Given the description of an element on the screen output the (x, y) to click on. 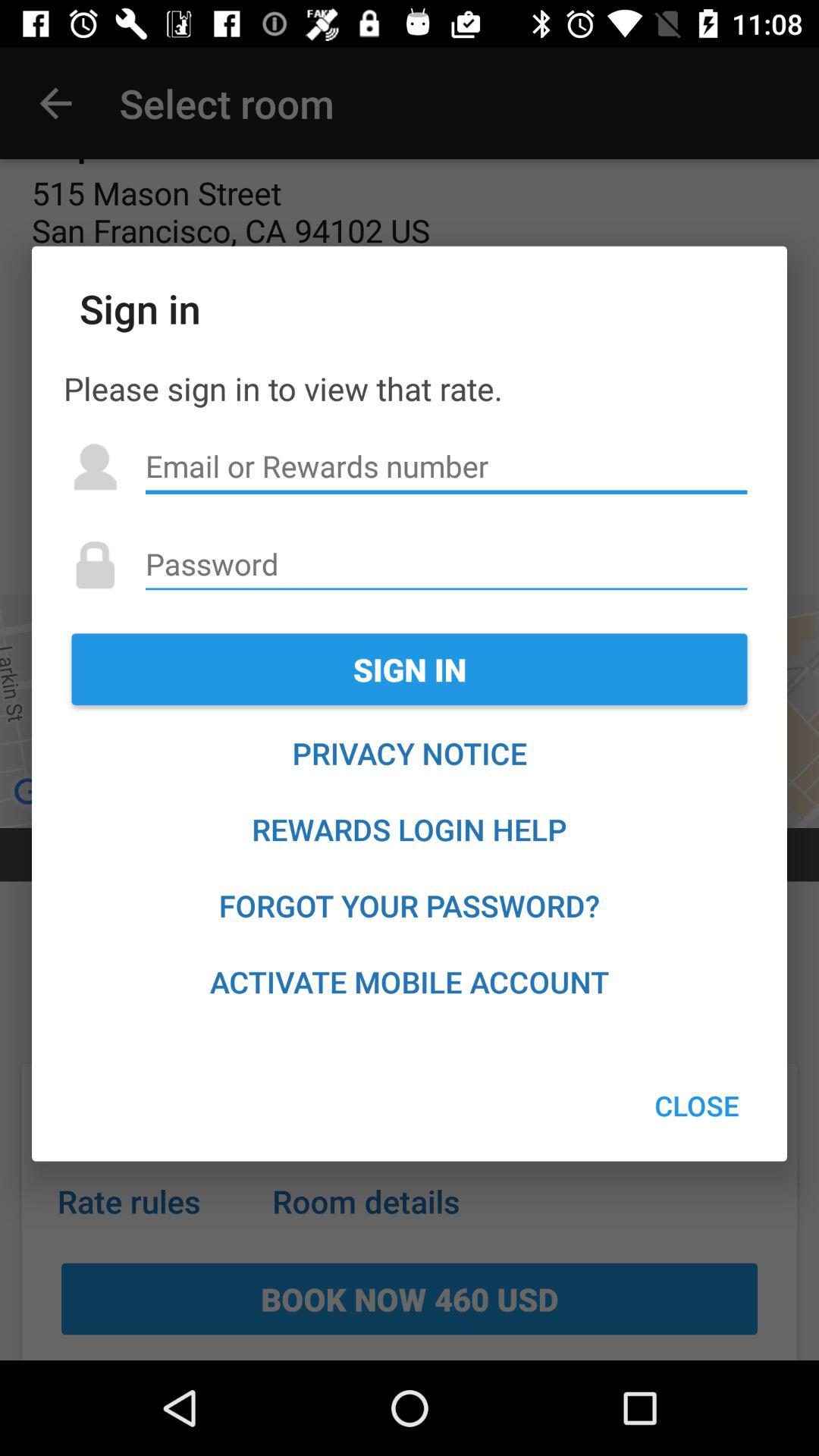
select rewards login help item (409, 829)
